Given the description of an element on the screen output the (x, y) to click on. 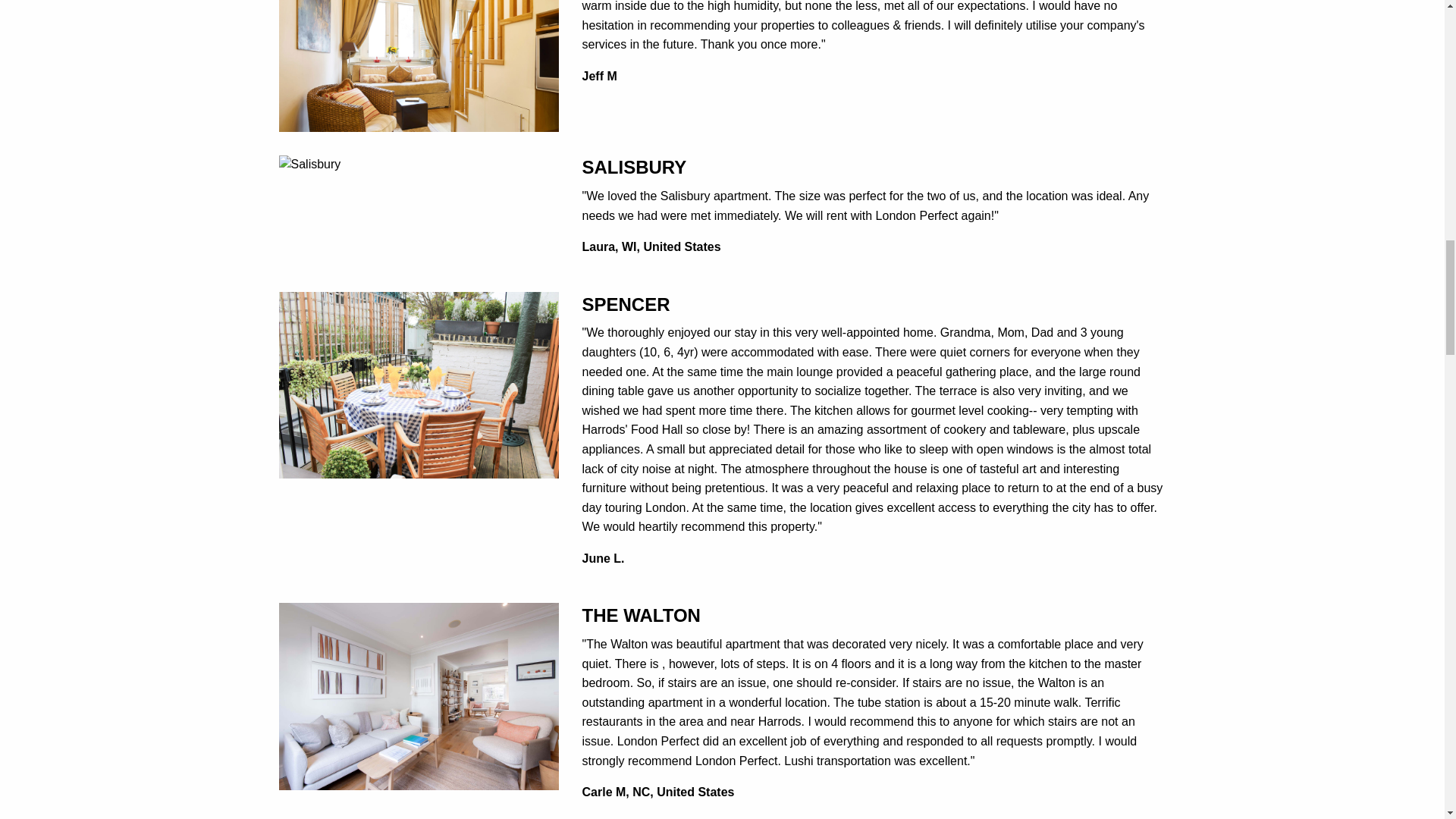
Spencer (419, 383)
The Walton (419, 695)
Salisbury (309, 163)
The Queensgate Studio Loft (419, 37)
